Given the description of an element on the screen output the (x, y) to click on. 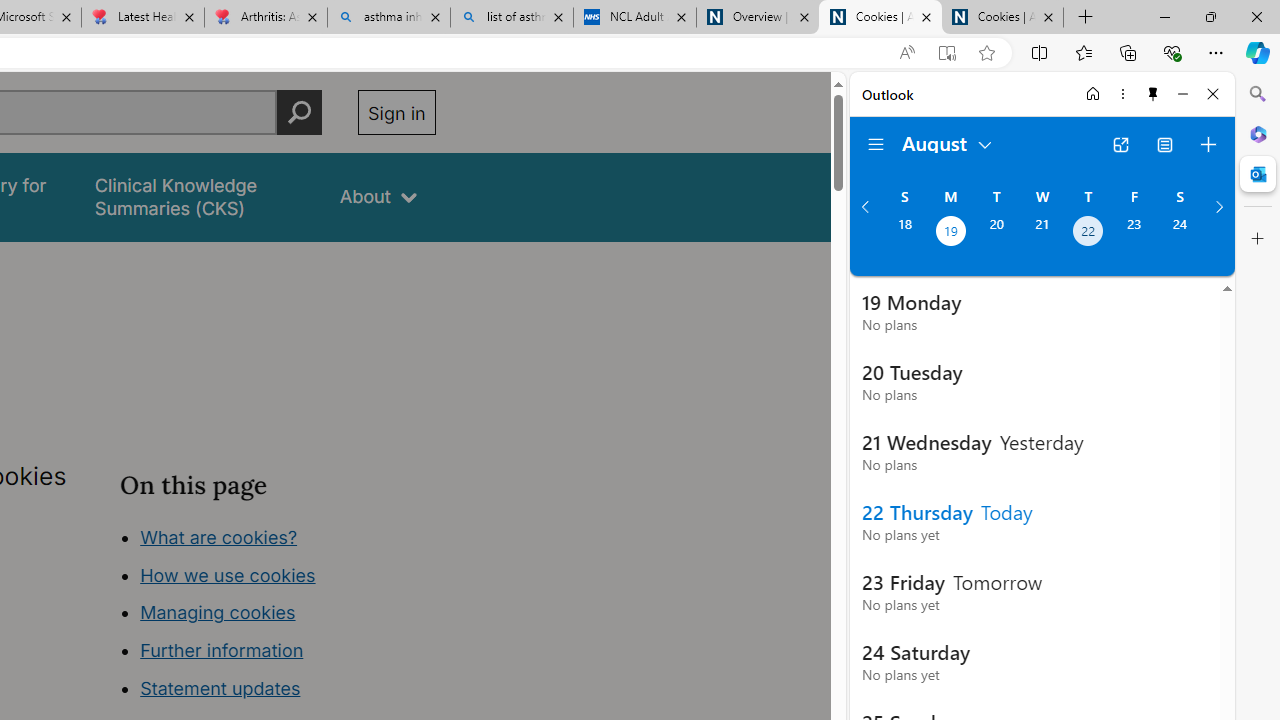
Cookies | About | NICE (1002, 17)
Class: in-page-nav__list (277, 615)
false (198, 196)
August (948, 141)
Tuesday, August 20, 2024.  (996, 233)
About (378, 196)
Perform search (299, 112)
View Switcher. Current view is Agenda view (1165, 144)
list of asthma inhalers uk - Search (511, 17)
